Given the description of an element on the screen output the (x, y) to click on. 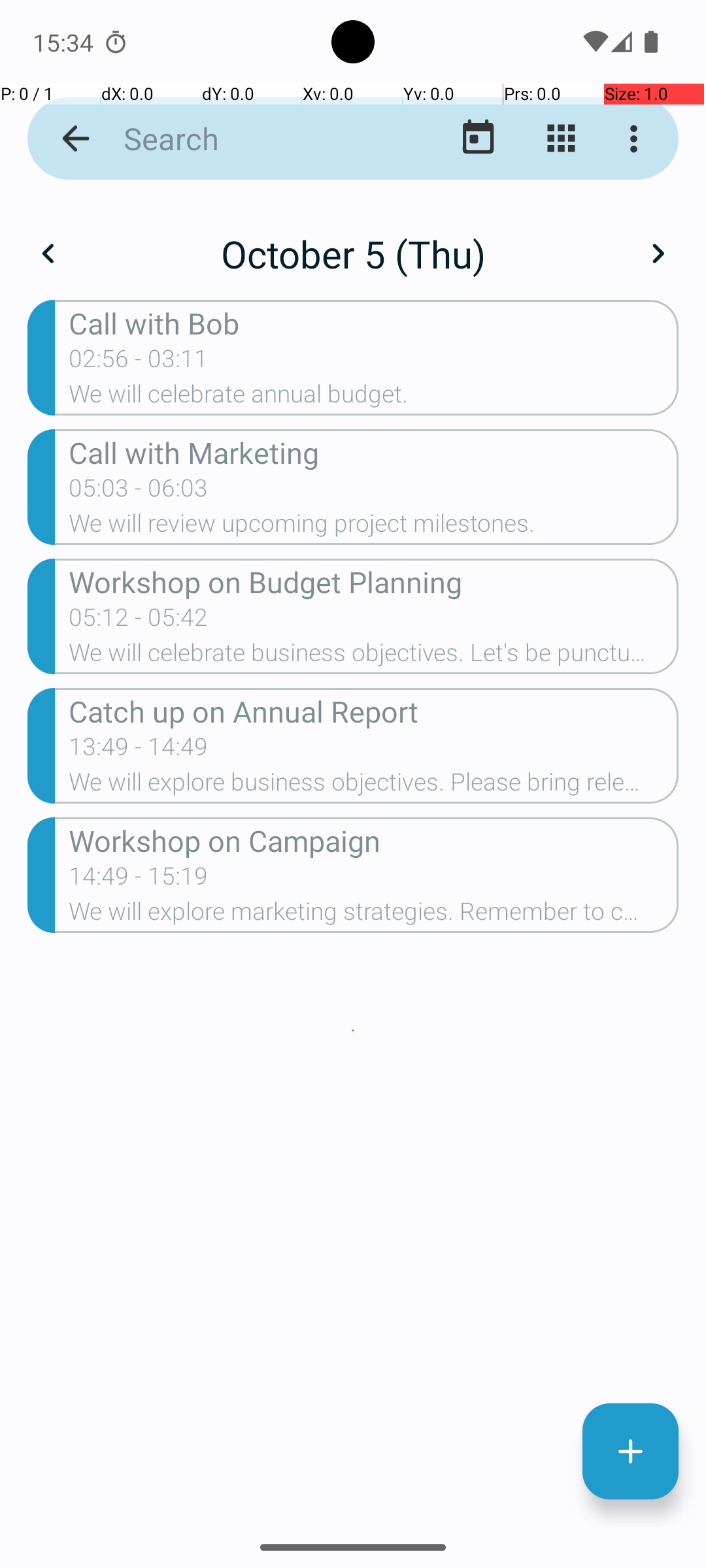
October 5 (Thu) Element type: android.widget.TextView (352, 253)
02:56 - 03:11 Element type: android.widget.TextView (137, 362)
We will celebrate annual budget. Element type: android.widget.TextView (373, 397)
05:03 - 06:03 Element type: android.widget.TextView (137, 491)
We will review upcoming project milestones. Element type: android.widget.TextView (373, 526)
05:12 - 05:42 Element type: android.widget.TextView (137, 620)
We will celebrate business objectives. Let's be punctual. Element type: android.widget.TextView (373, 656)
13:49 - 14:49 Element type: android.widget.TextView (137, 750)
We will explore business objectives. Please bring relevant documents. Element type: android.widget.TextView (373, 785)
14:49 - 15:19 Element type: android.widget.TextView (137, 879)
We will explore marketing strategies. Remember to confirm attendance. Element type: android.widget.TextView (373, 914)
